Given the description of an element on the screen output the (x, y) to click on. 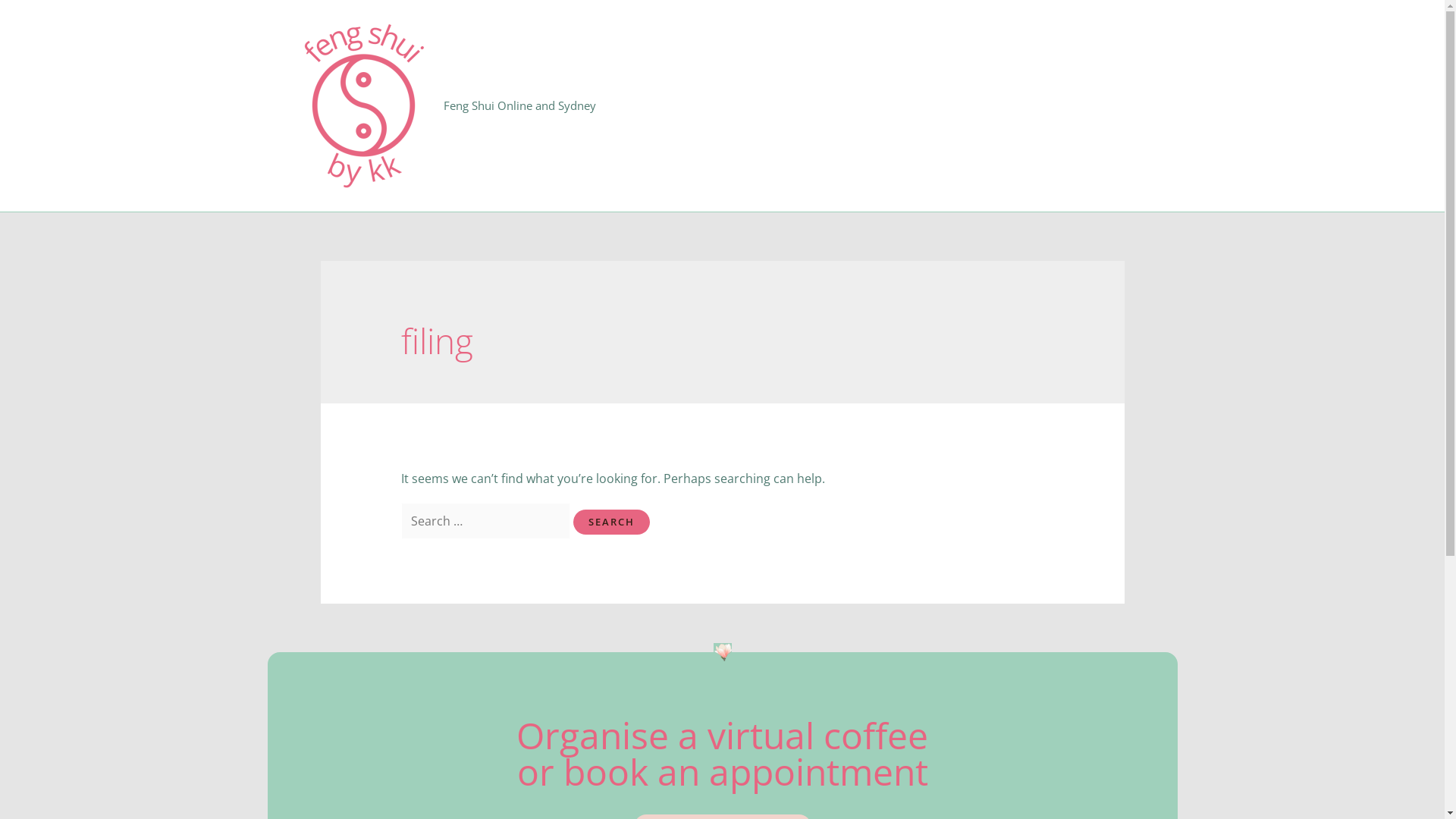
Untitled design (23) Element type: hover (721, 652)
Search Element type: text (611, 521)
